Given the description of an element on the screen output the (x, y) to click on. 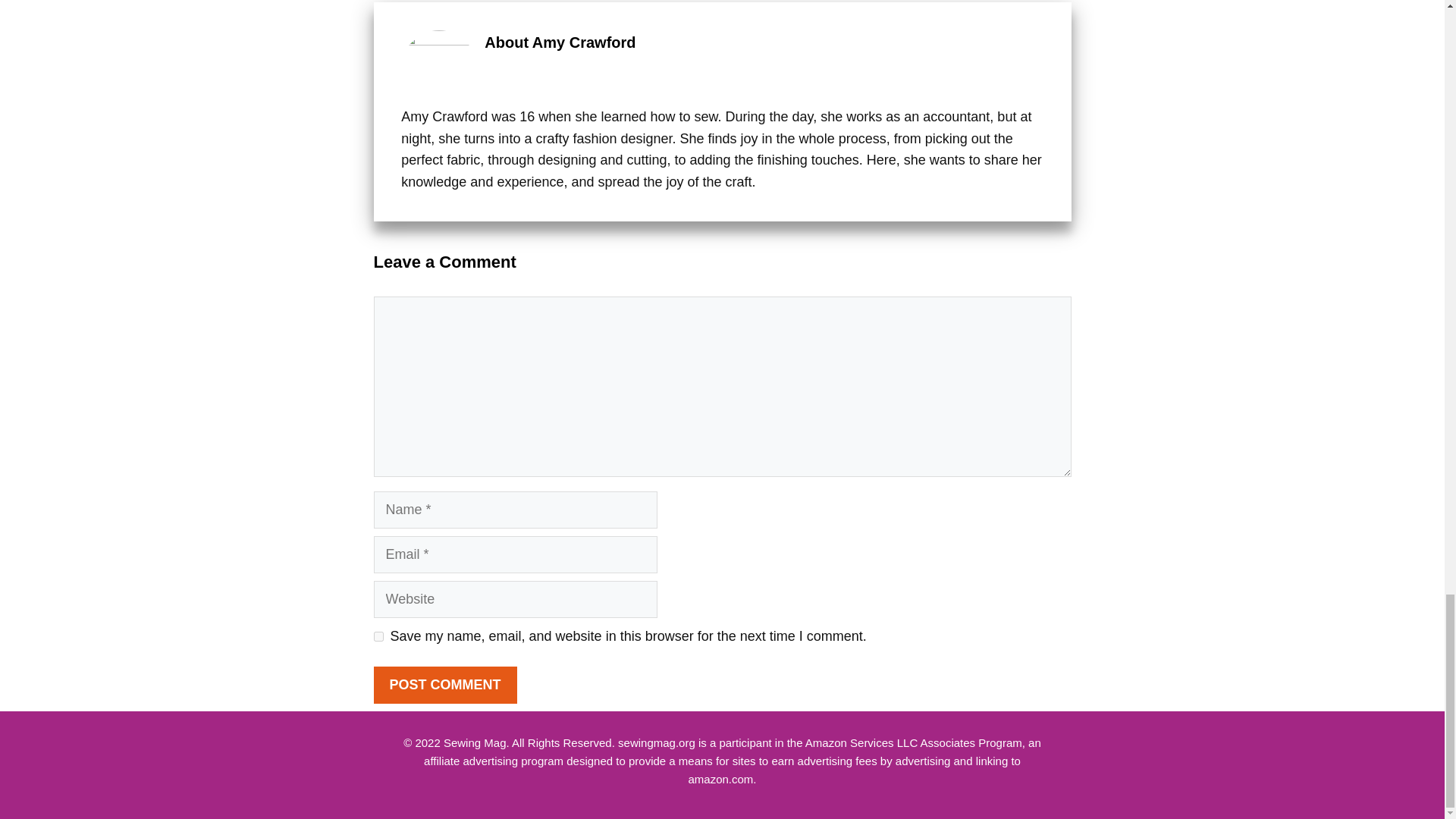
yes (377, 636)
Post Comment (444, 684)
Post Comment (444, 684)
